Given the description of an element on the screen output the (x, y) to click on. 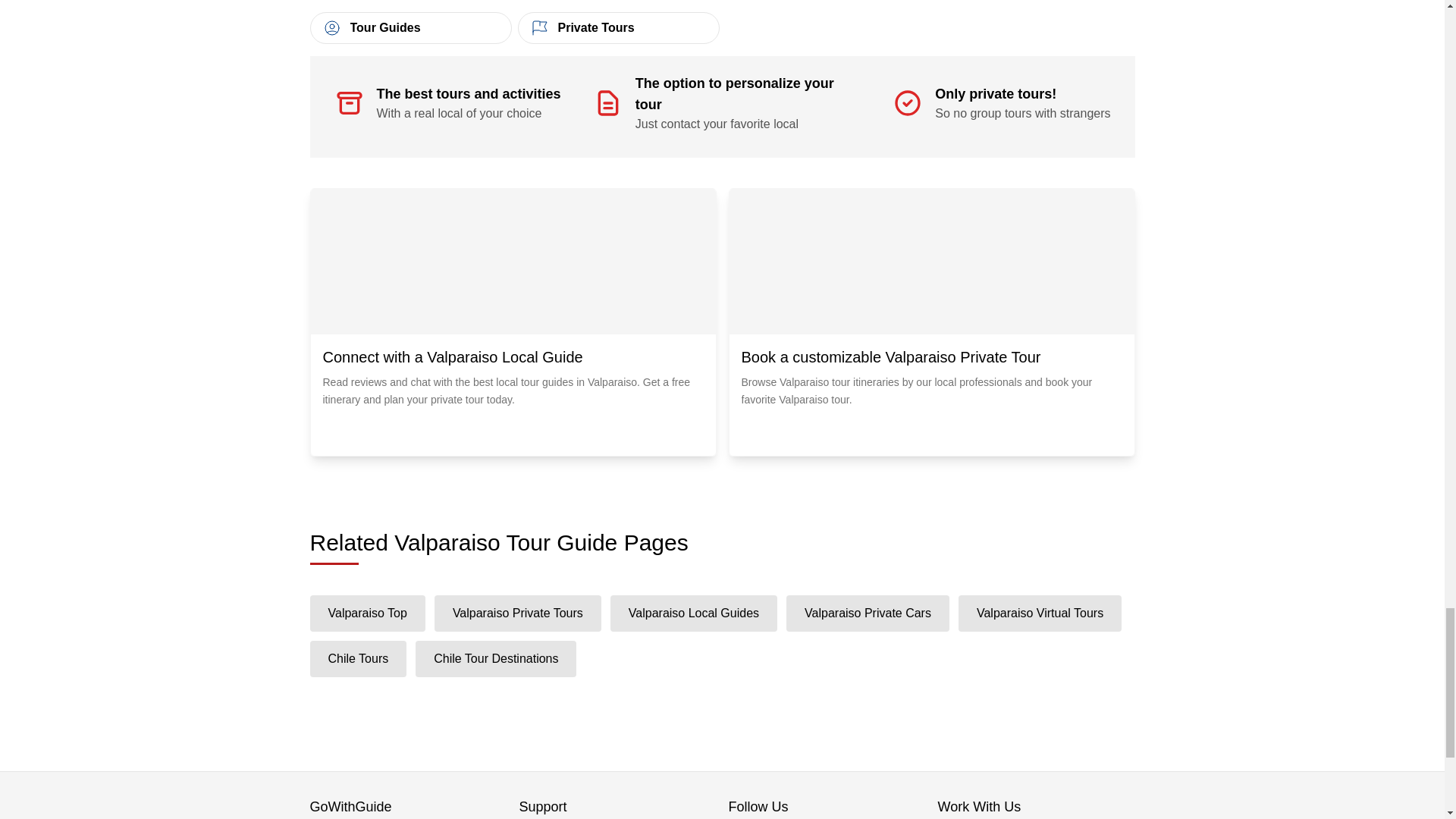
View More Chile Popular Articles (722, 9)
